Given the description of an element on the screen output the (x, y) to click on. 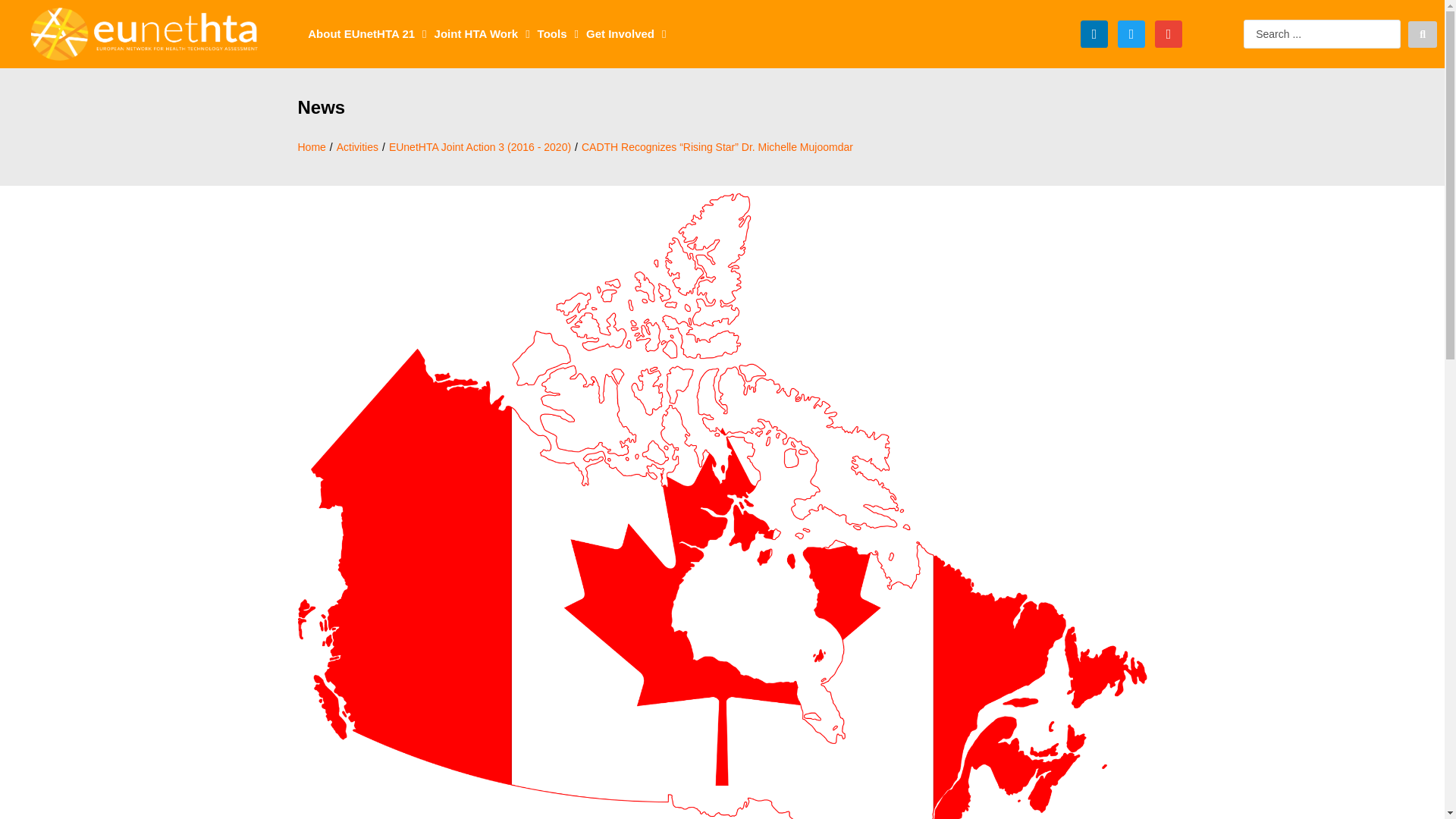
About EUnetHTA 21 (366, 33)
Home (310, 147)
Activities (357, 147)
Joint HTA Work (482, 33)
